Given the description of an element on the screen output the (x, y) to click on. 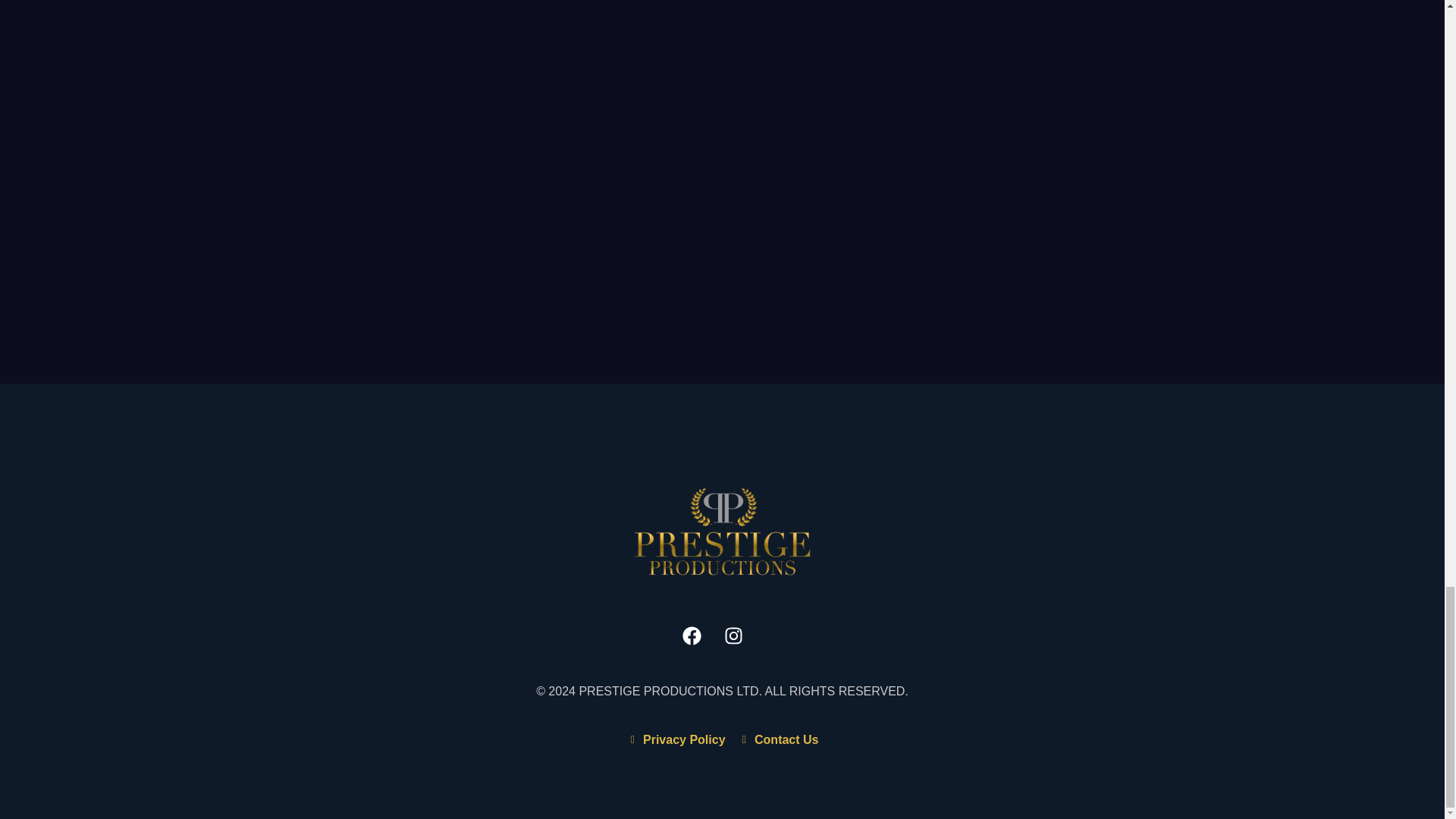
Privacy Policy (675, 740)
Contact Us (778, 740)
